Given the description of an element on the screen output the (x, y) to click on. 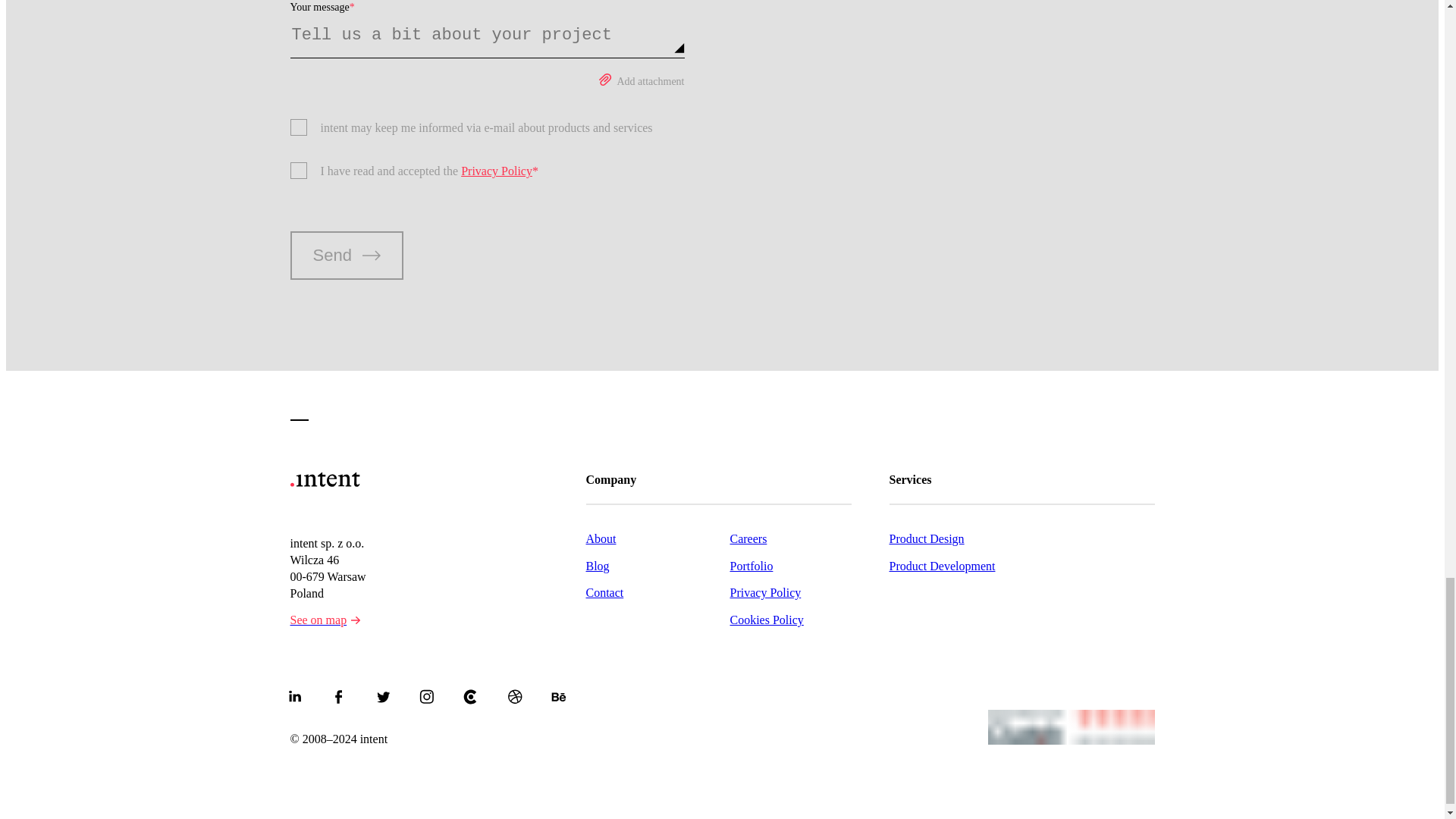
Cookies Policy (782, 617)
Send (346, 255)
Twitter (381, 696)
Behance (558, 696)
About (657, 536)
Careers (782, 536)
Instagram (425, 696)
Product Development (1021, 564)
Open Google Maps (354, 620)
Privacy Policy (496, 170)
Linkedin (293, 696)
Product Design (1021, 536)
Blog (657, 564)
See on mapOpen Google Maps (324, 619)
Clutch (469, 696)
